Given the description of an element on the screen output the (x, y) to click on. 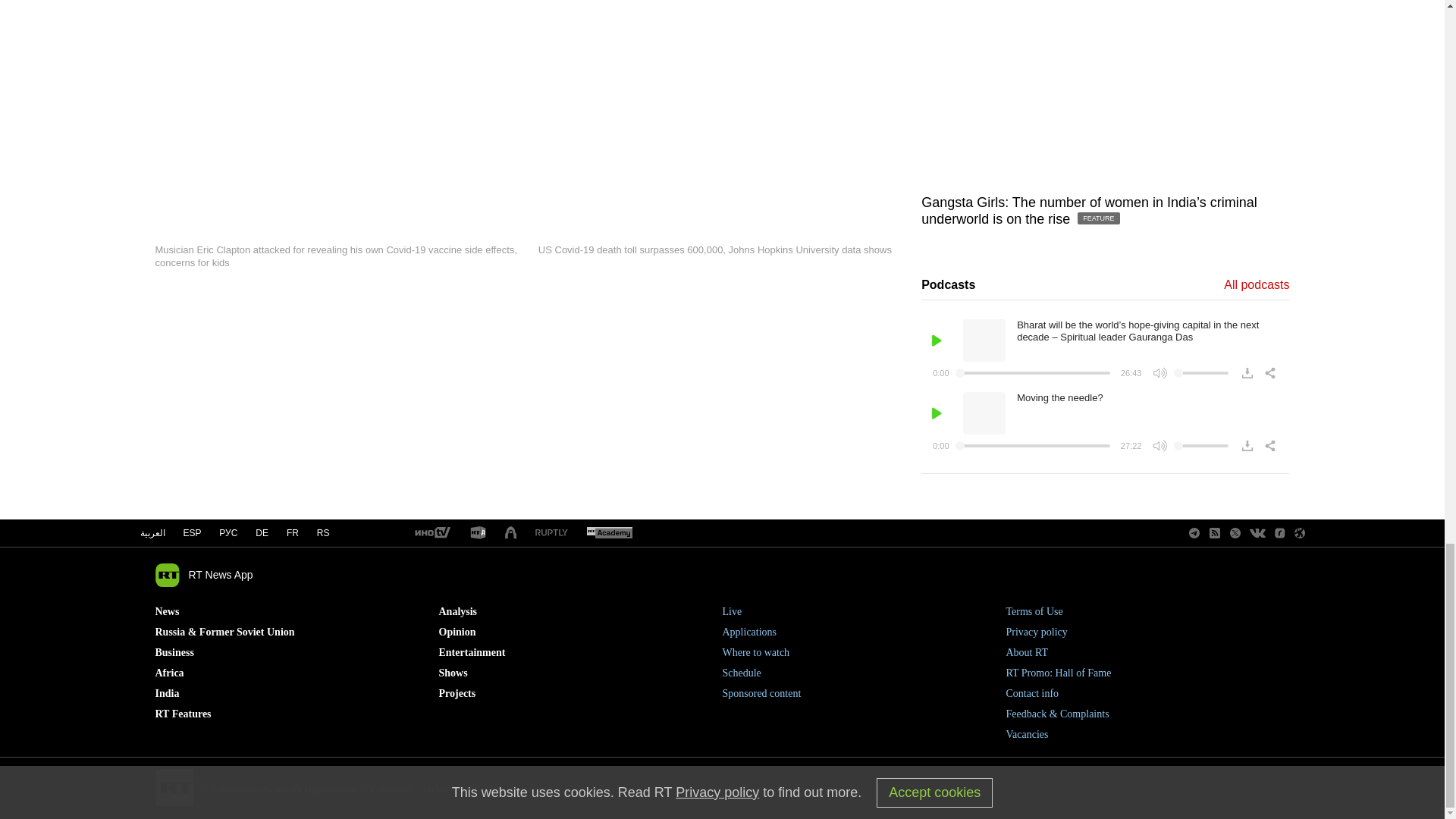
RT  (608, 533)
RT  (478, 533)
RT  (551, 533)
RT  (431, 533)
